Given the description of an element on the screen output the (x, y) to click on. 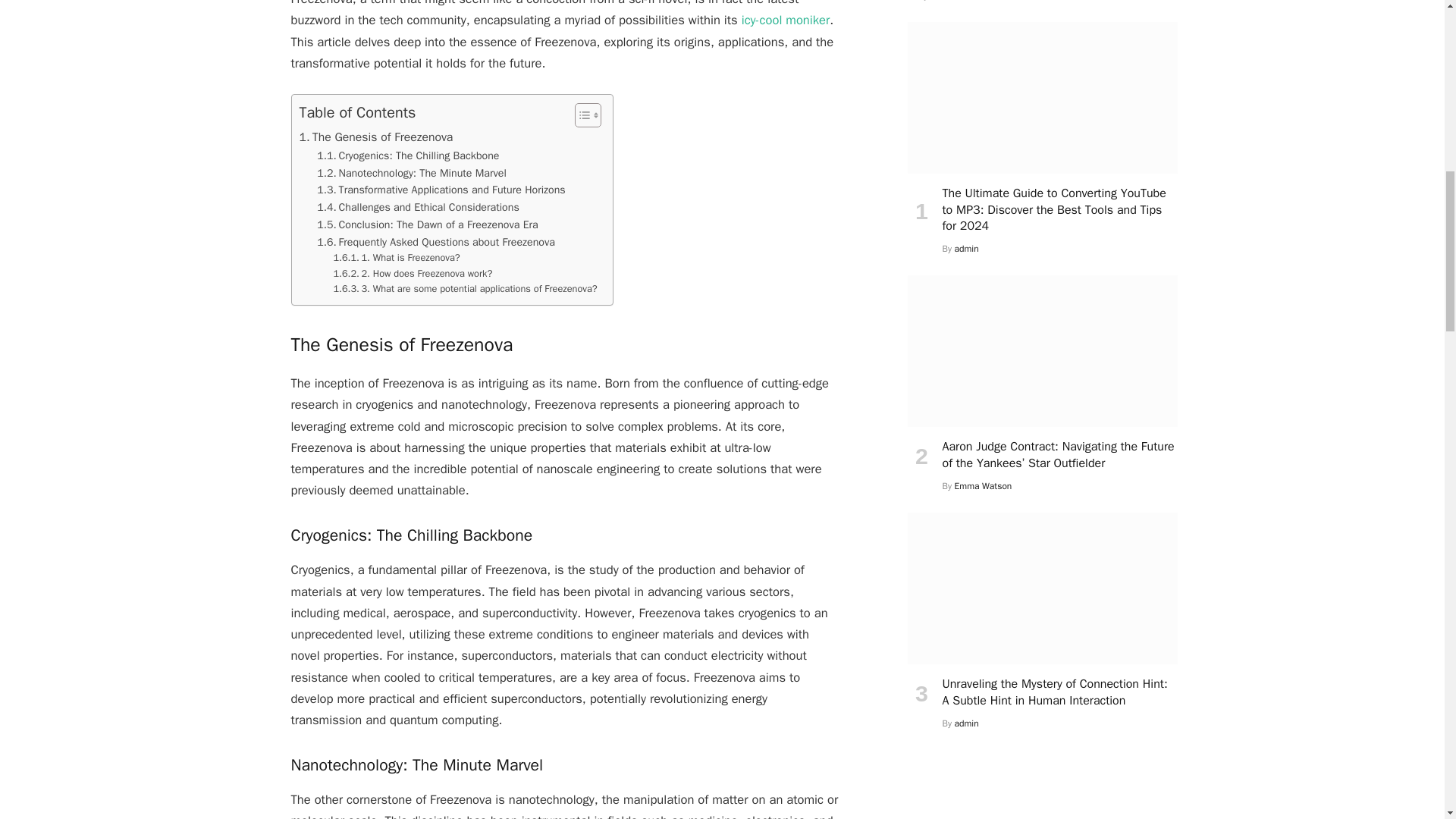
Cryogenics: The Chilling Backbone (408, 155)
icy-cool moniker (785, 19)
The Genesis of Freezenova (375, 137)
